Given the description of an element on the screen output the (x, y) to click on. 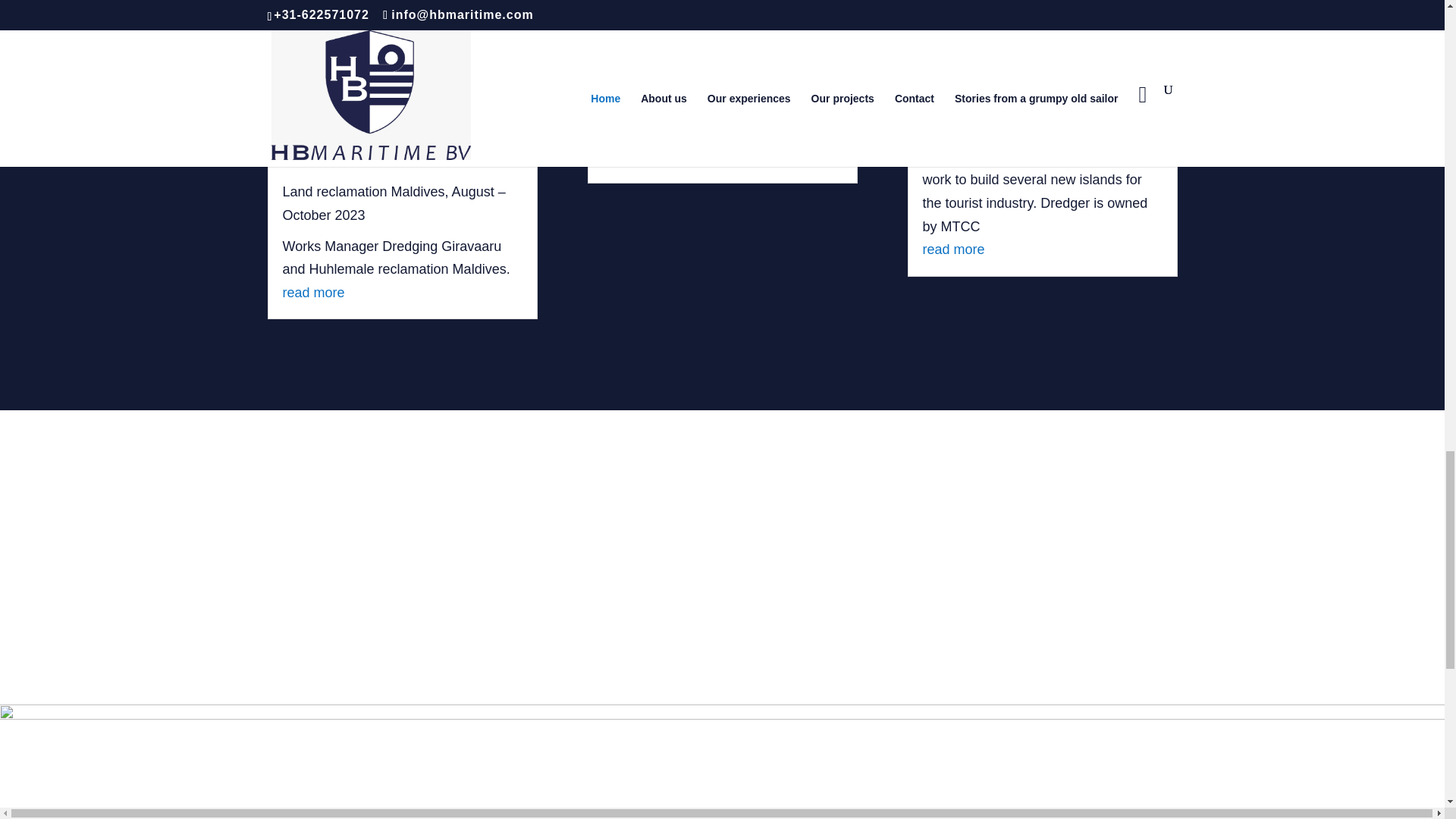
read more (632, 156)
Dredging, Maldives (980, 102)
read more (952, 249)
Yunlin OWF, Taiwan (662, 102)
read more (312, 292)
